Given the description of an element on the screen output the (x, y) to click on. 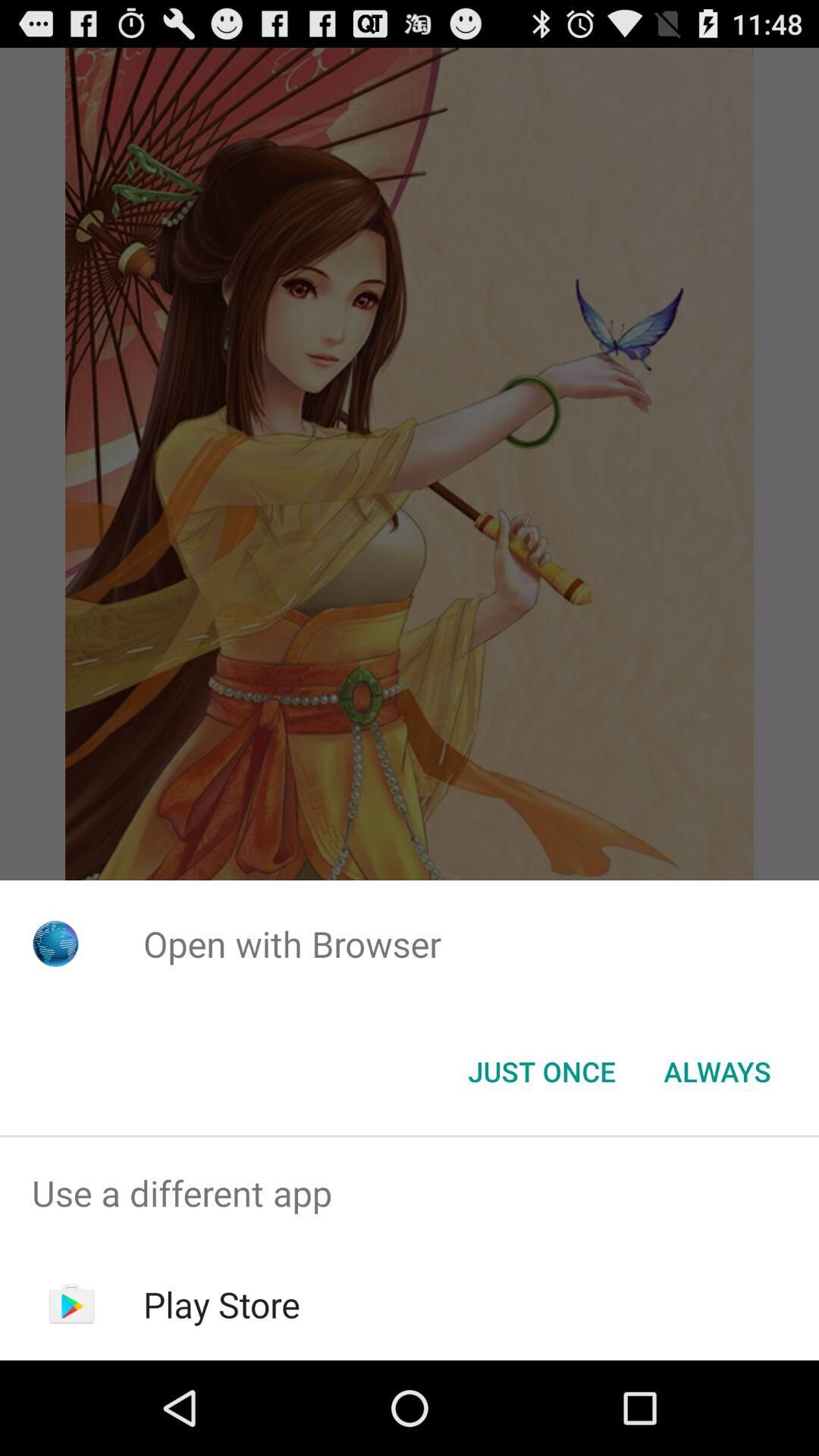
turn on the always button (717, 1071)
